Given the description of an element on the screen output the (x, y) to click on. 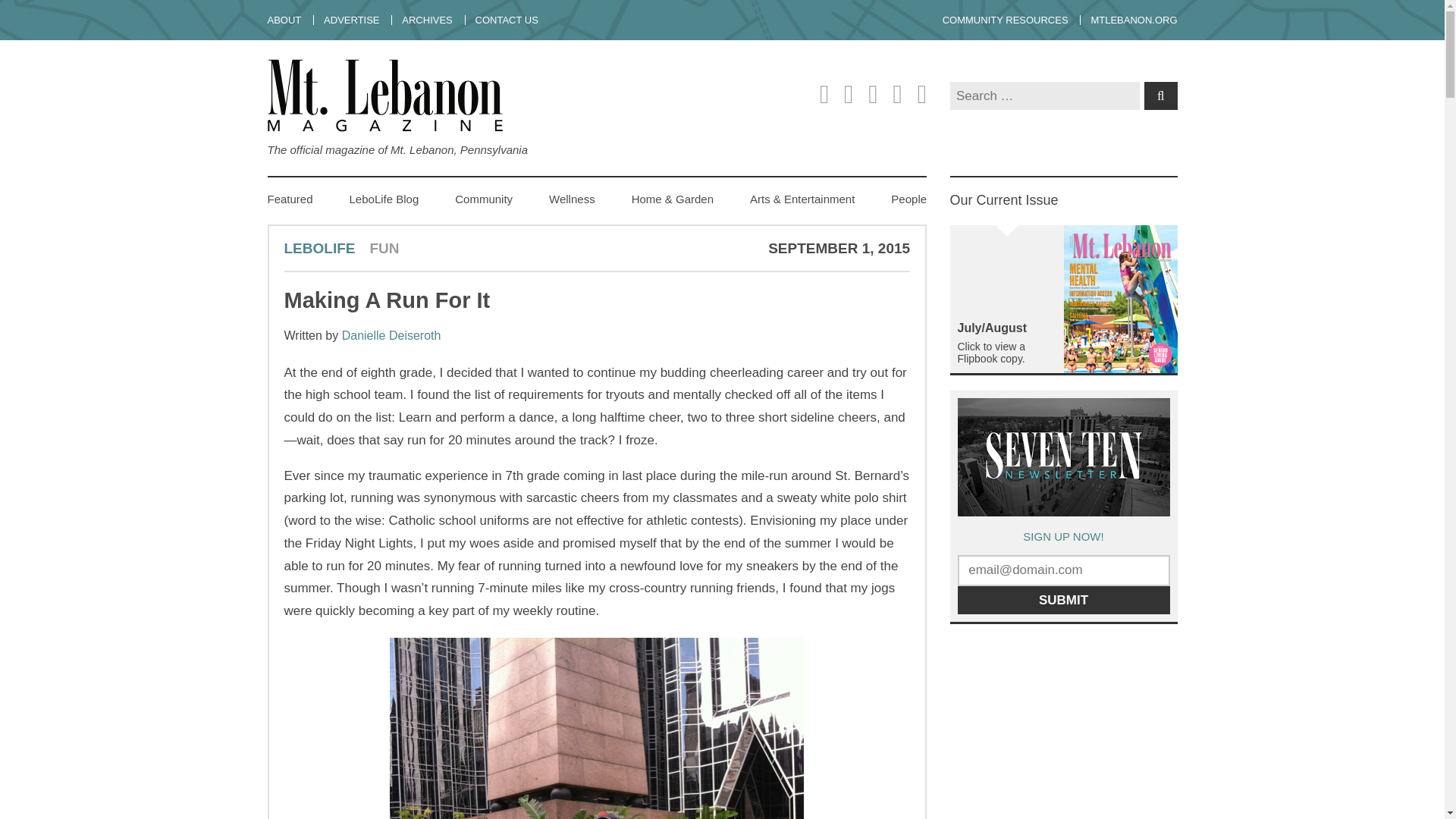
Search for: (1043, 95)
YouTube video player (1161, 729)
Submit (1062, 600)
